Given the description of an element on the screen output the (x, y) to click on. 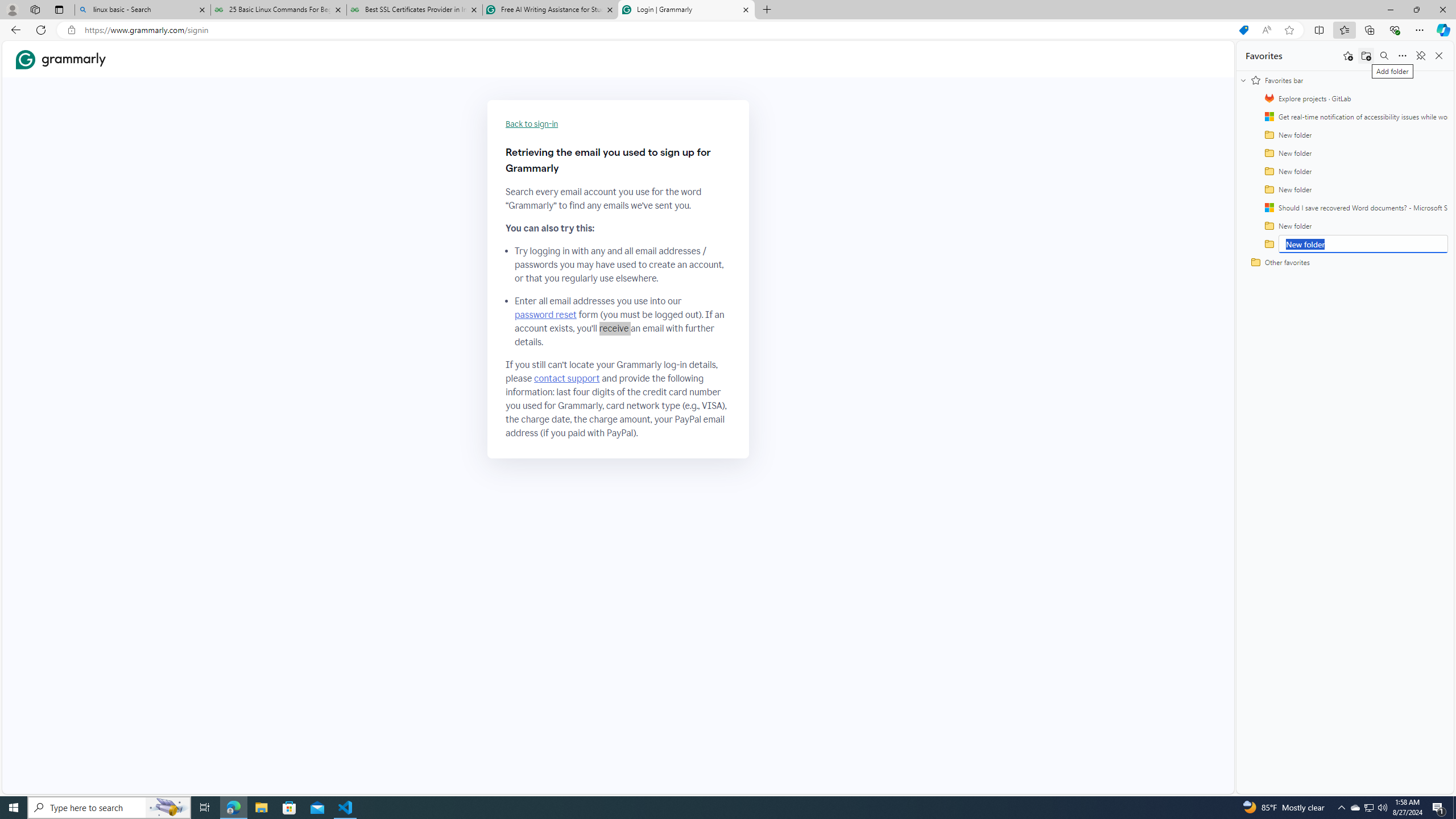
Add folder (1366, 55)
password reset (545, 314)
Grammarly Home (61, 58)
